Given the description of an element on the screen output the (x, y) to click on. 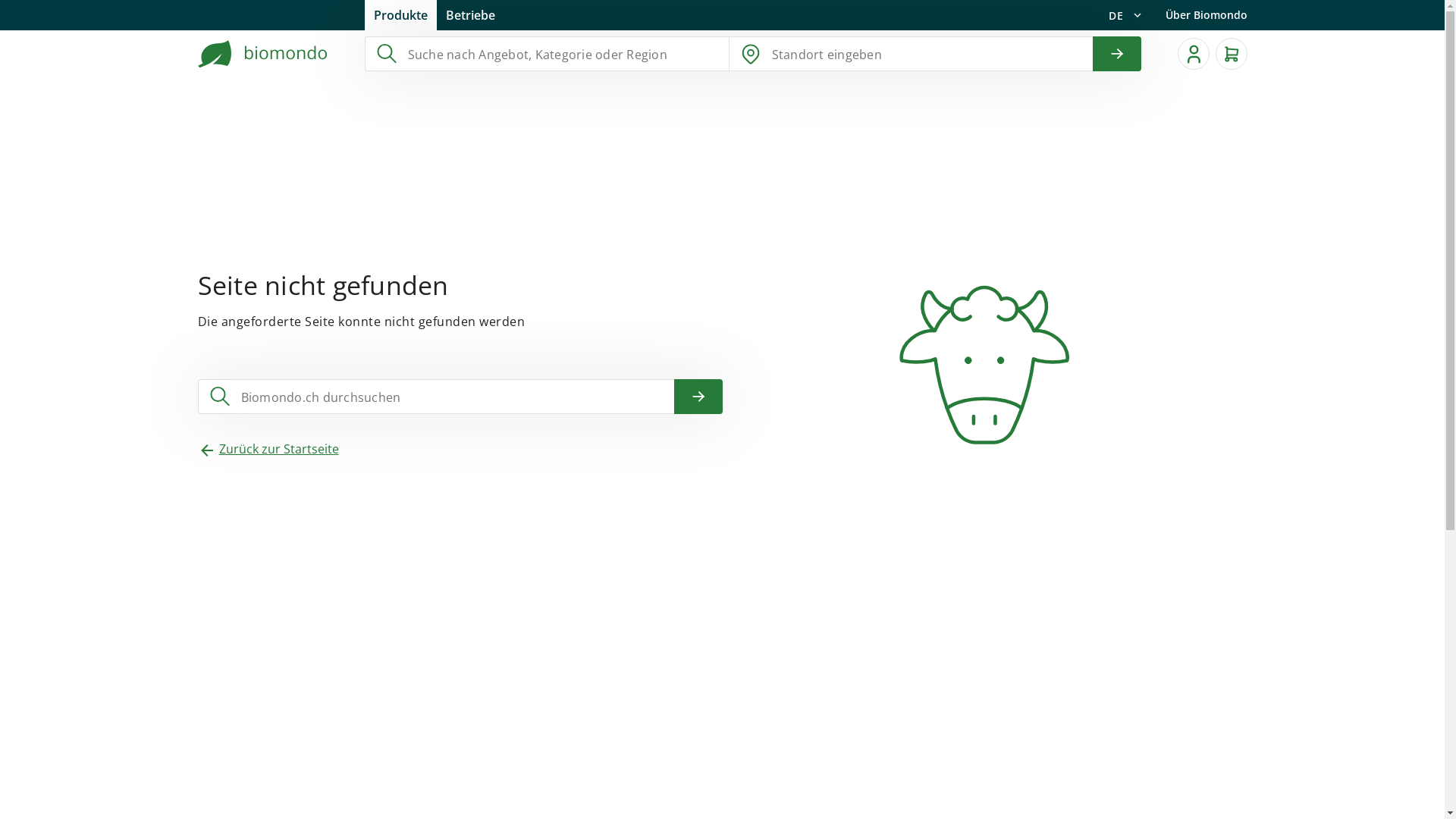
Produkte Element type: text (400, 15)
DE Element type: text (1124, 15)
Betriebe Element type: text (470, 15)
